Given the description of an element on the screen output the (x, y) to click on. 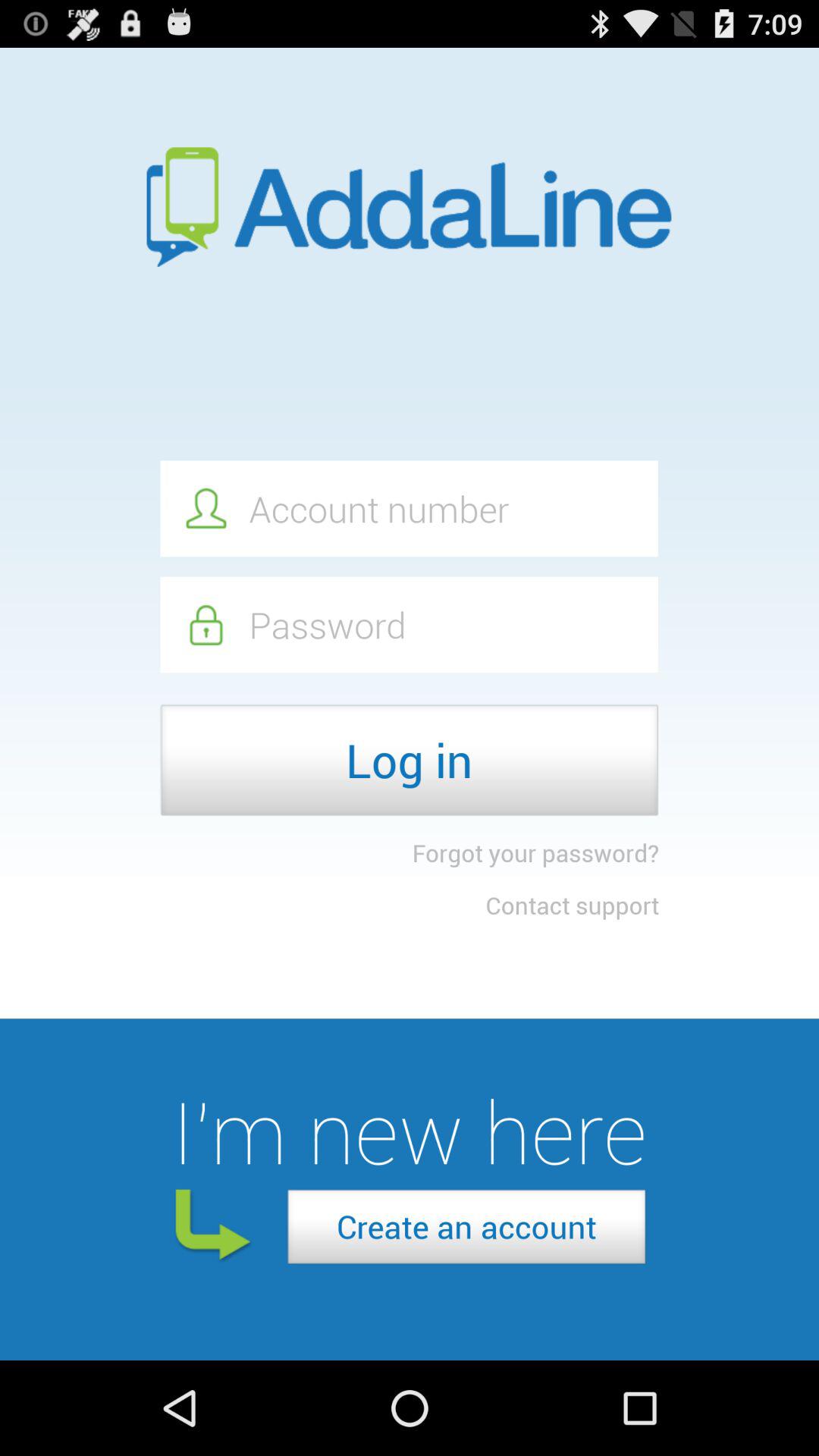
launch the icon on the right (572, 904)
